Given the description of an element on the screen output the (x, y) to click on. 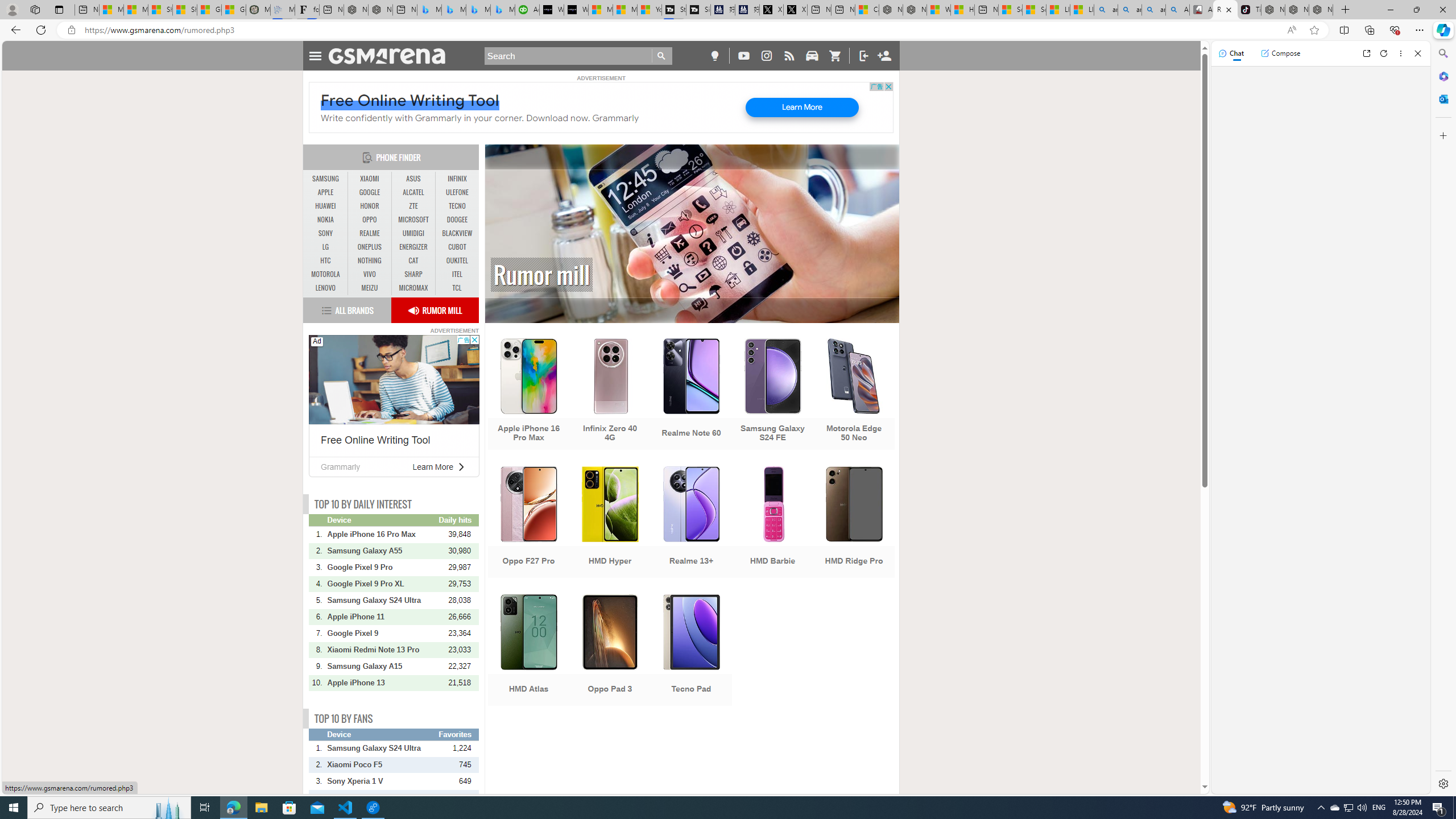
Apple iPhone 16 Pro Max (528, 395)
Infinix Zero 40 4G (609, 395)
MOTOROLA (325, 273)
ULEFONE (457, 192)
HUAWEI (325, 206)
Manatee Mortality Statistics | FWC (258, 9)
Go (662, 55)
Microsoft Start Sports (600, 9)
Oppo F27 Pro (528, 523)
XIAOMI (369, 178)
GOOGLE (369, 192)
MICROSOFT (413, 219)
MOTOROLA (325, 273)
Apple iPhone 11 (381, 616)
